Given the description of an element on the screen output the (x, y) to click on. 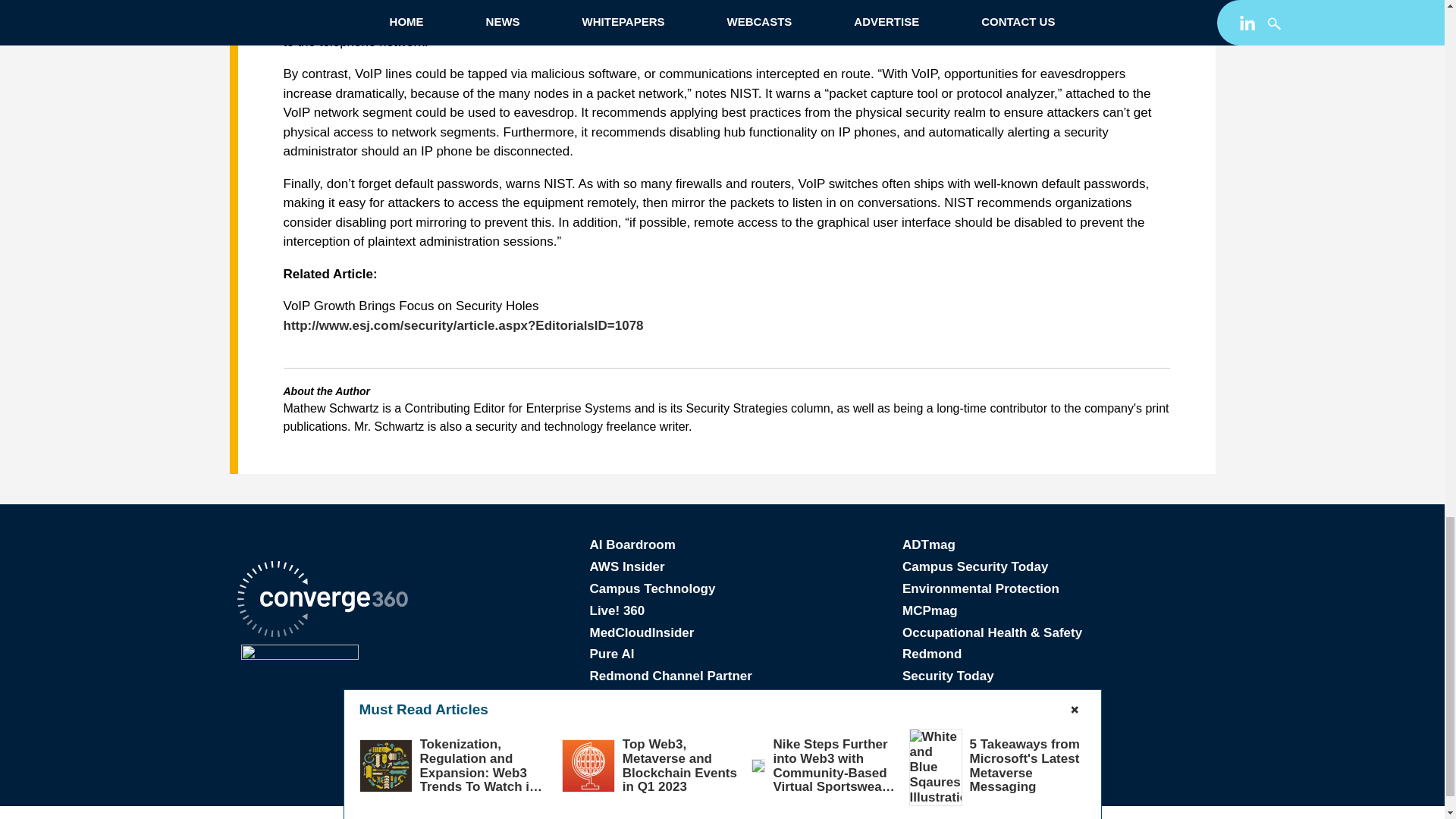
Environmental Protection (980, 588)
Pure AI (611, 653)
Campus Technology (652, 588)
AWS Insider (627, 566)
Redmond (931, 653)
Live! 360 (617, 610)
MCPmag (930, 610)
AI Boardroom (632, 544)
ADTmag (928, 544)
MedCloudInsider (641, 632)
